Given the description of an element on the screen output the (x, y) to click on. 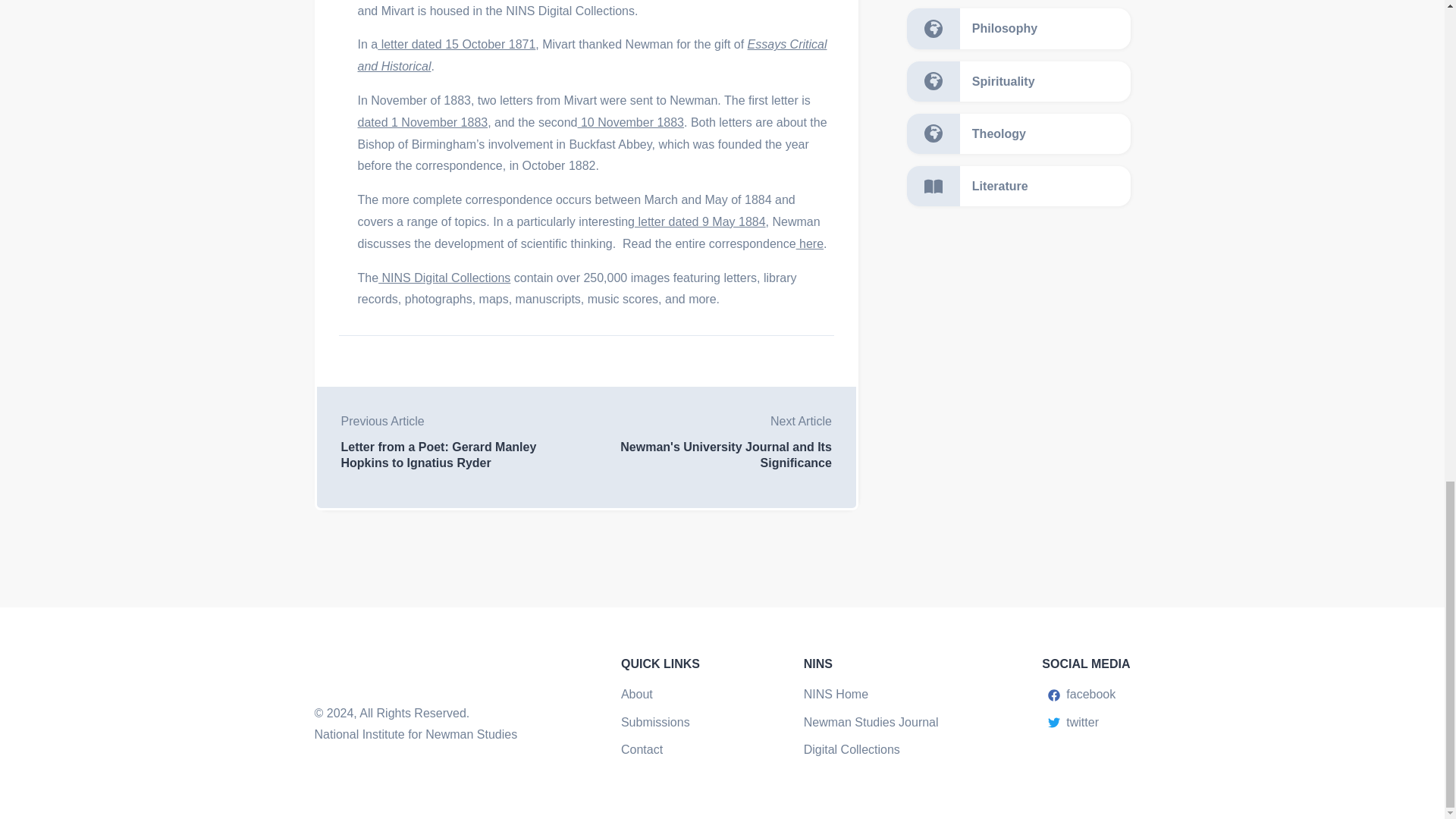
letter dated 9 May 1884 (699, 221)
Letter from a Poet: Gerard Manley Hopkins to Ignatius Ryder (463, 454)
letter dated 15 October 1871 (456, 43)
10 November 1883 (630, 122)
NINS Digital Collections (444, 277)
Essays Critical and Historical (592, 54)
here (810, 243)
dated 1 November 1883 (422, 122)
Newman's University Journal and Its Significance (708, 454)
Philosophy (1019, 28)
